Given the description of an element on the screen output the (x, y) to click on. 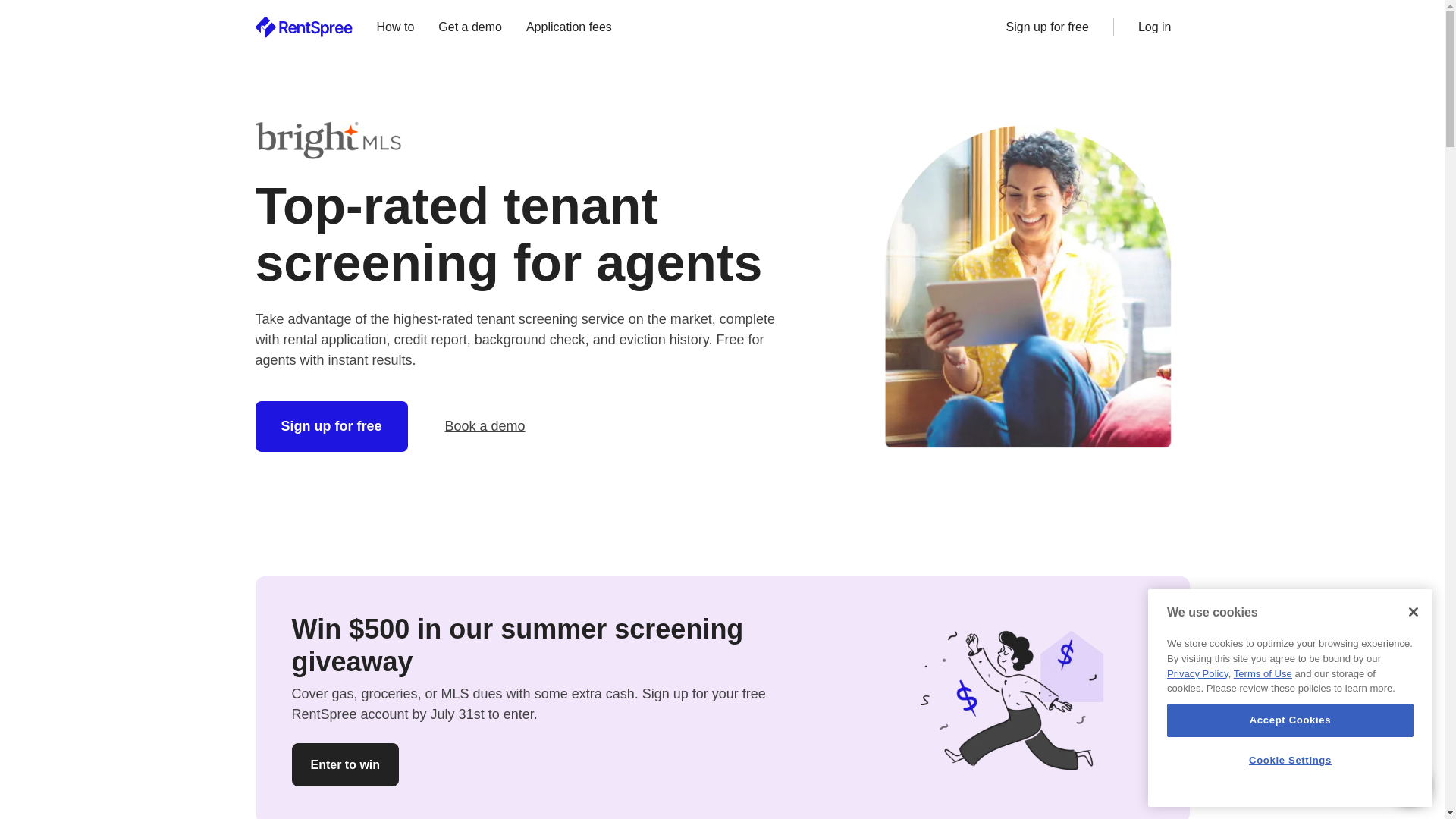
Enter to win (344, 763)
Book a demo (485, 426)
Sign up for free (1046, 26)
How to (395, 27)
Log in (1154, 26)
Application fees (568, 27)
Get a demo (469, 27)
Sign up for free (331, 425)
